Given the description of an element on the screen output the (x, y) to click on. 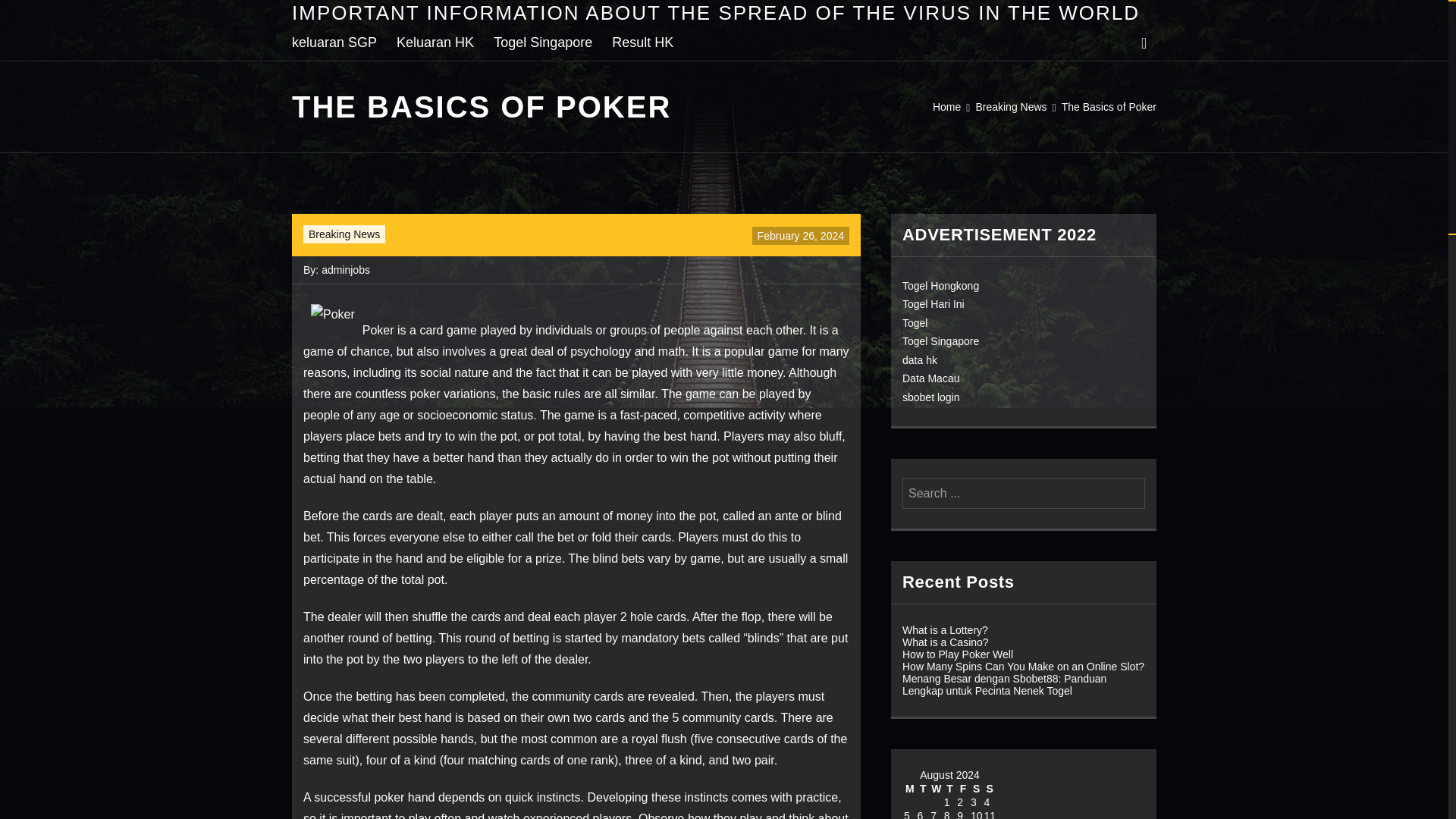
Tuesday (923, 788)
Sunday (989, 788)
data hk (919, 358)
adminjobs (345, 269)
Monday (909, 788)
sbobet login (930, 397)
Breaking News (344, 234)
Data Macau (930, 378)
How to Play Poker Well (957, 653)
